Given the description of an element on the screen output the (x, y) to click on. 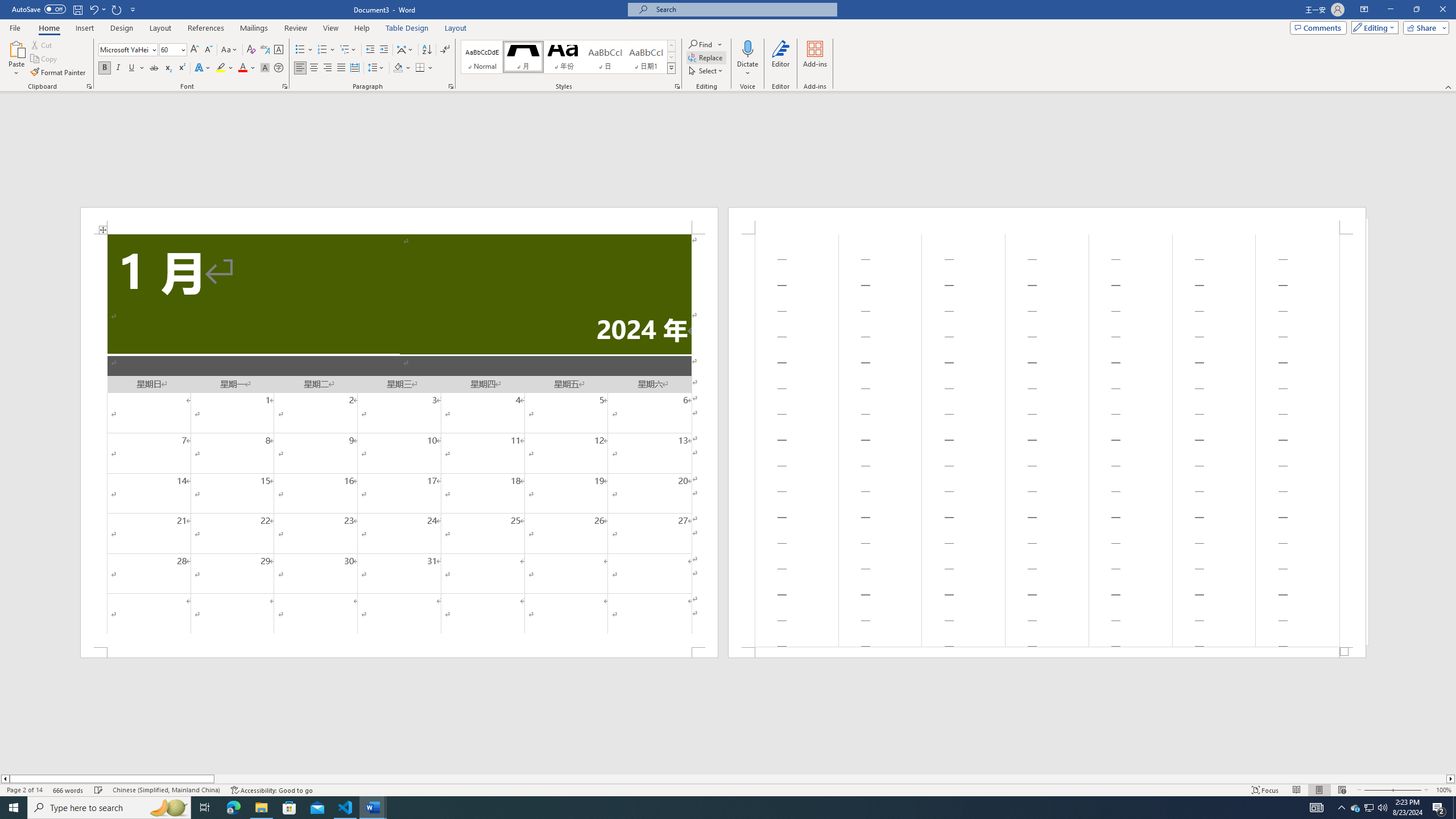
Customize Quick Access Toolbar (133, 9)
Save (77, 9)
Asian Layout (405, 49)
Phonetic Guide... (264, 49)
Layout (455, 28)
Design (122, 28)
Row Down (670, 56)
Column left (5, 778)
Select (705, 69)
Accessibility Checker Accessibility: Good to go (271, 790)
Mailings (253, 28)
Copy (45, 58)
Text Effects and Typography (202, 67)
Font Color RGB(255, 0, 0) (241, 67)
